Given the description of an element on the screen output the (x, y) to click on. 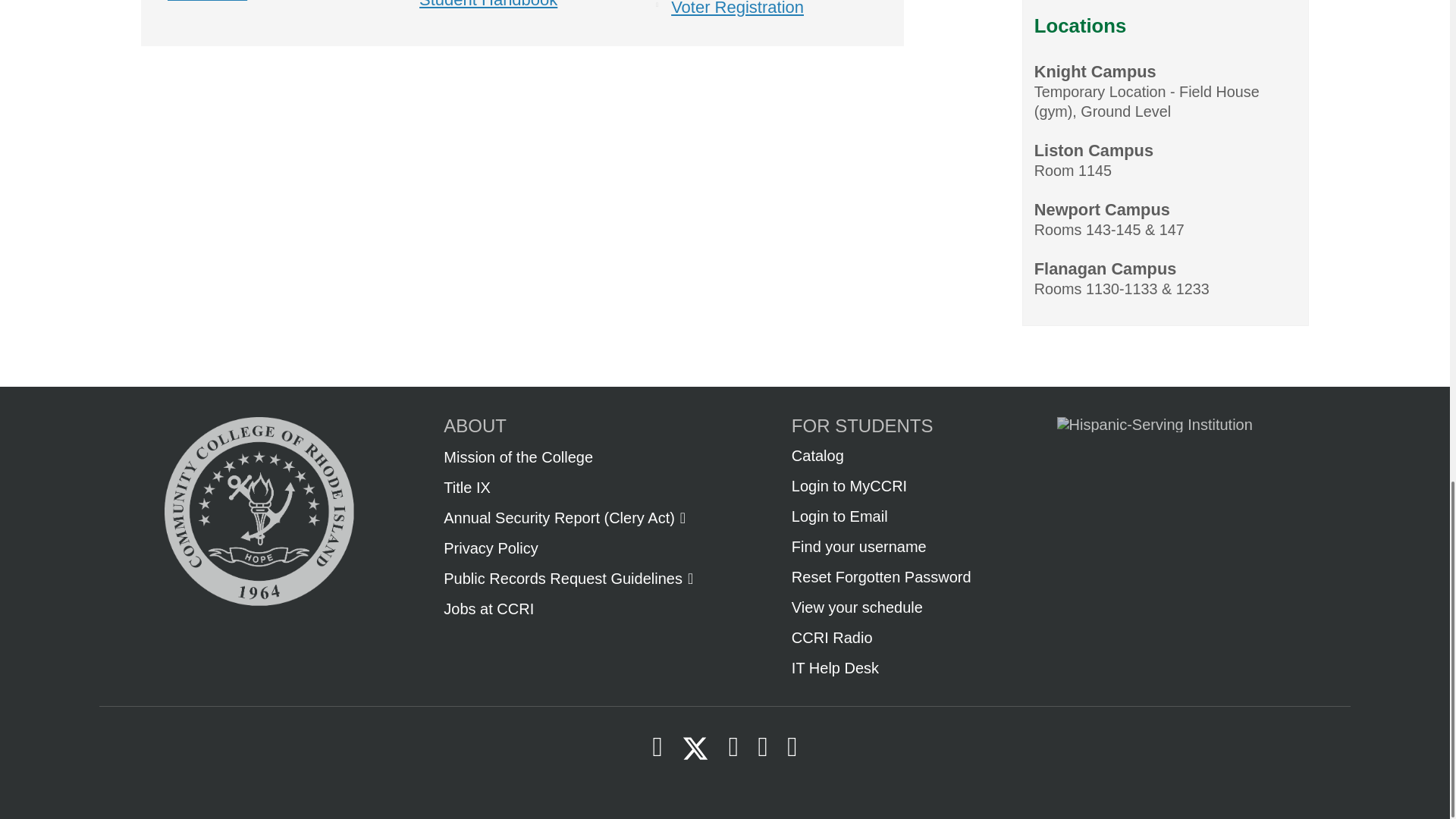
Hispanic-Serving Institution (1150, 424)
